Given the description of an element on the screen output the (x, y) to click on. 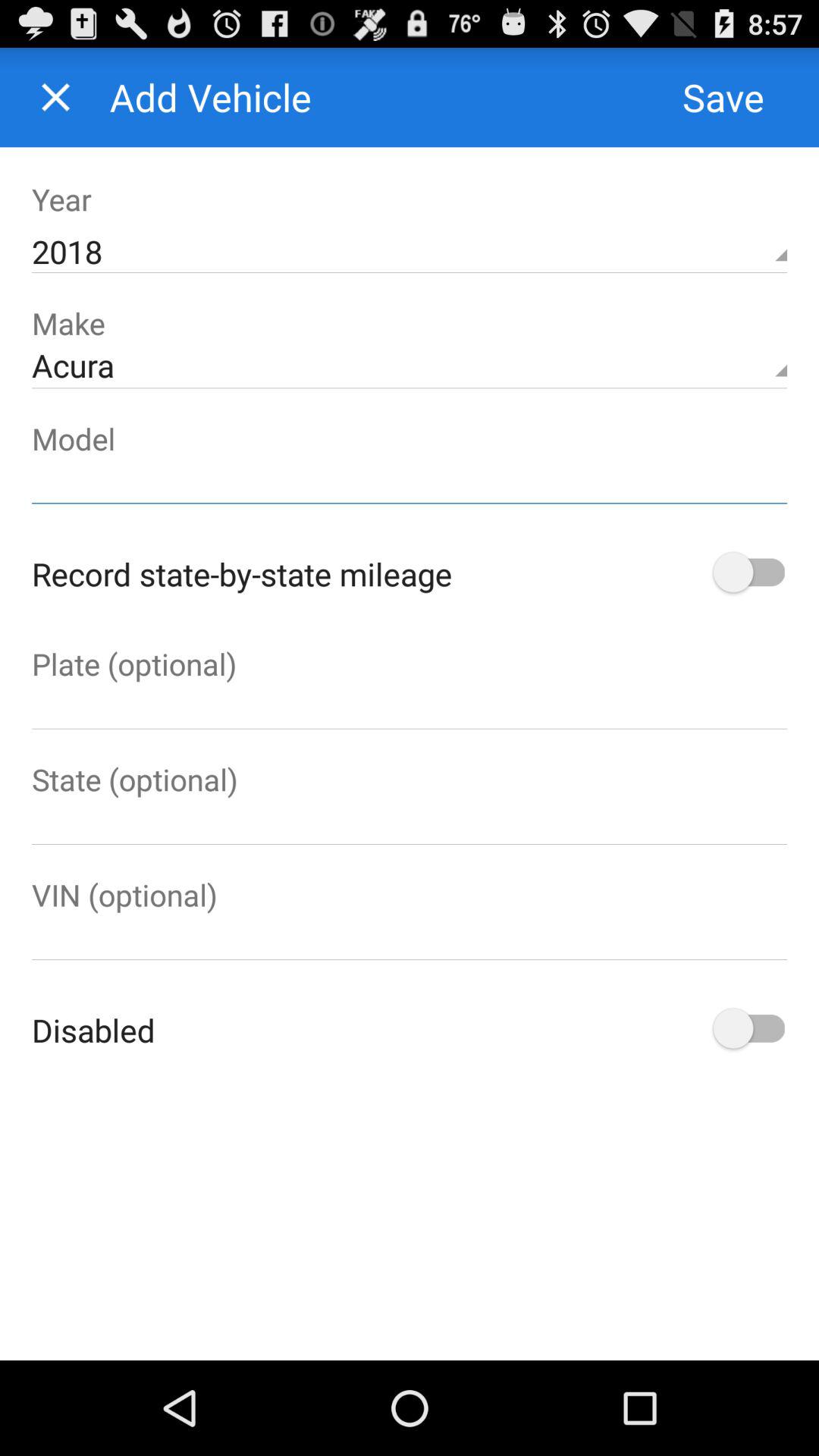
text area for vehicle 's plate (409, 706)
